Given the description of an element on the screen output the (x, y) to click on. 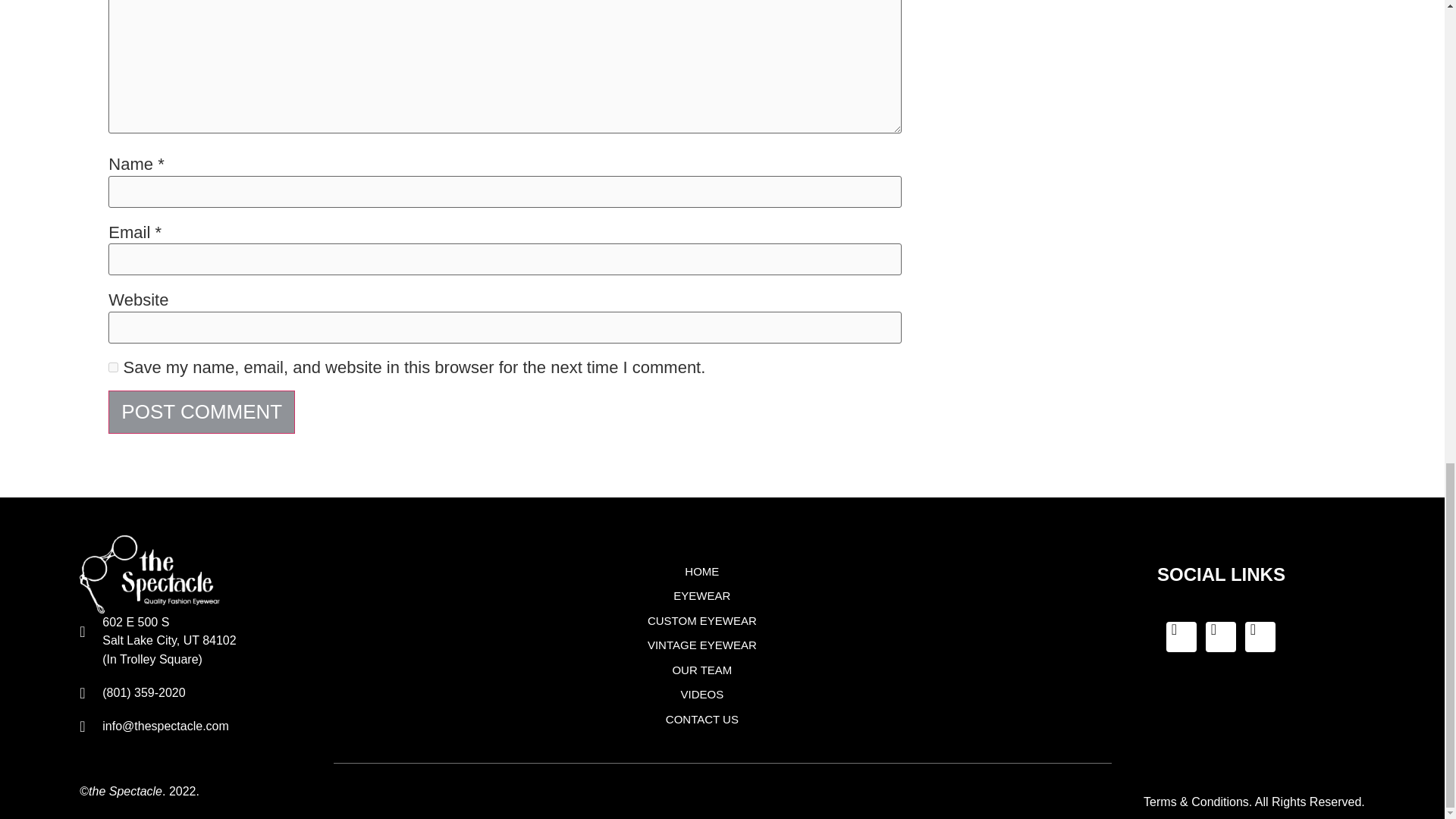
CUSTOM EYEWEAR (701, 620)
OUR TEAM (701, 670)
Post Comment (201, 412)
yes (112, 367)
HOME (701, 571)
VIDEOS (701, 694)
VINTAGE EYEWEAR (701, 645)
Post Comment (201, 412)
CONTACT US (701, 719)
EYEWEAR (701, 596)
